Given the description of an element on the screen output the (x, y) to click on. 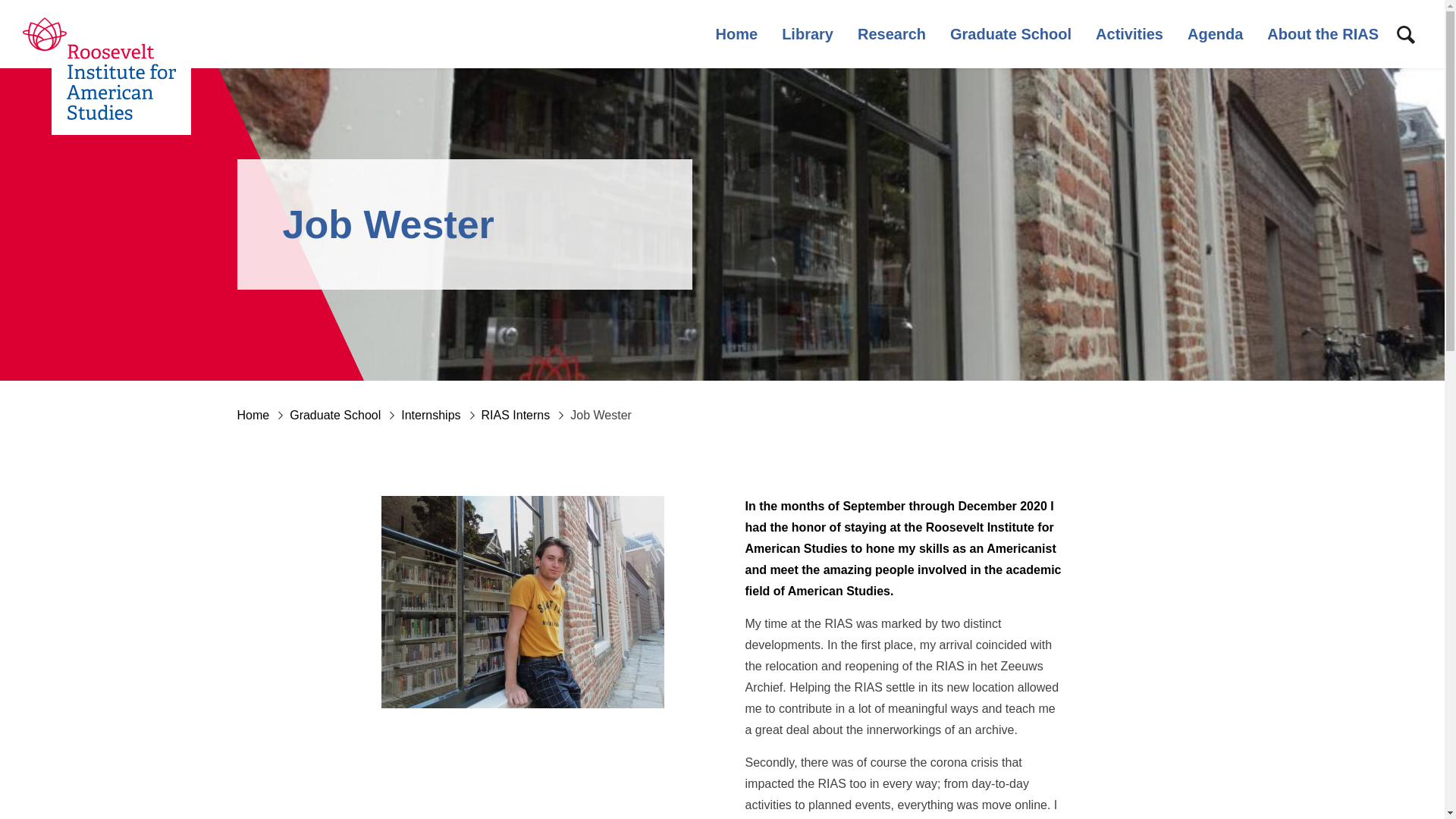
Go to RIAS Interns. (525, 414)
Go to Graduate School. (345, 414)
Research (891, 33)
About the RIAS (1322, 33)
Go to Roosevelt. (262, 414)
Activities (1129, 33)
Graduate School (1010, 33)
Go to Internships. (440, 414)
